Given the description of an element on the screen output the (x, y) to click on. 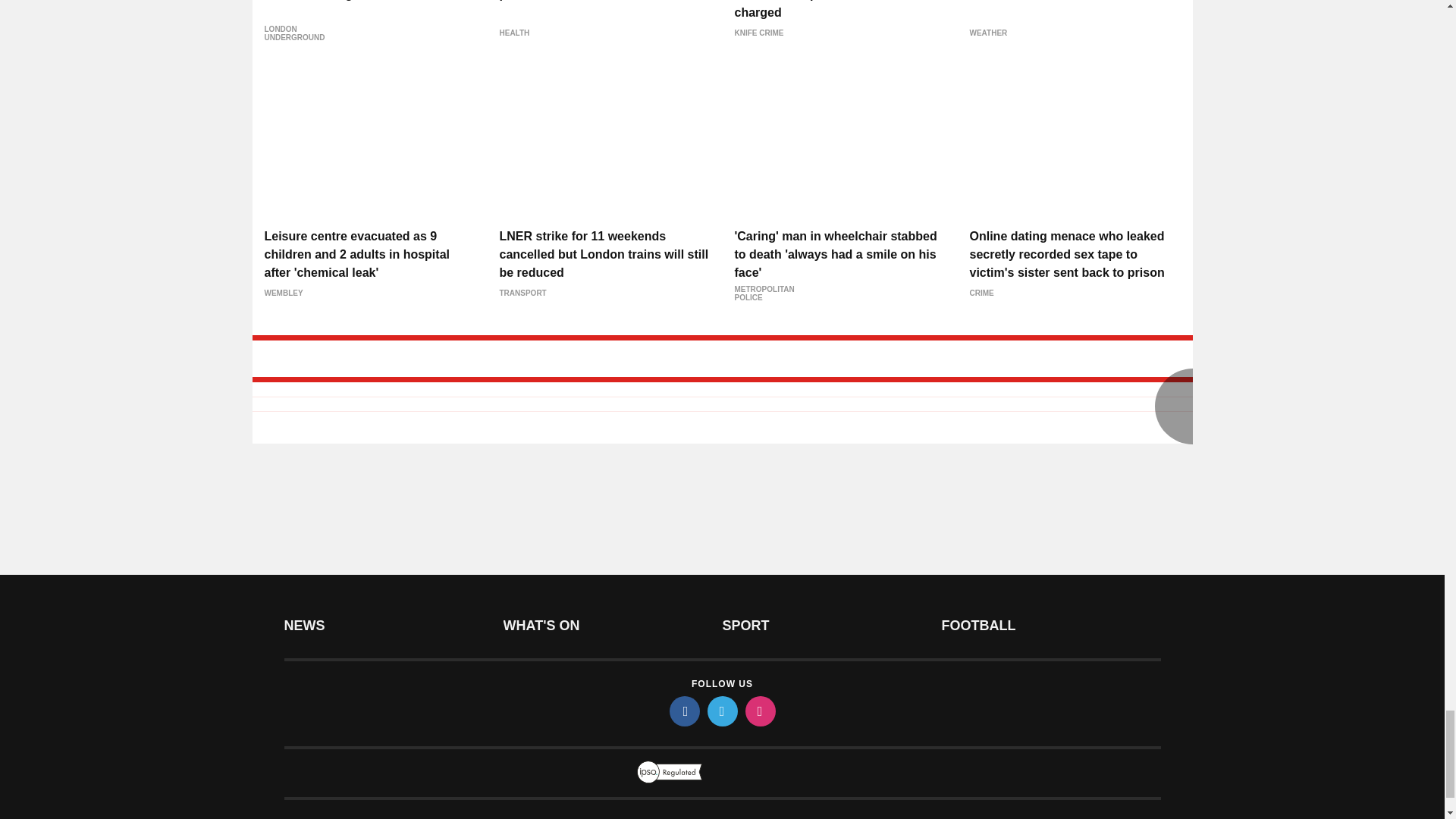
instagram (759, 711)
facebook (683, 711)
twitter (721, 711)
